Given the description of an element on the screen output the (x, y) to click on. 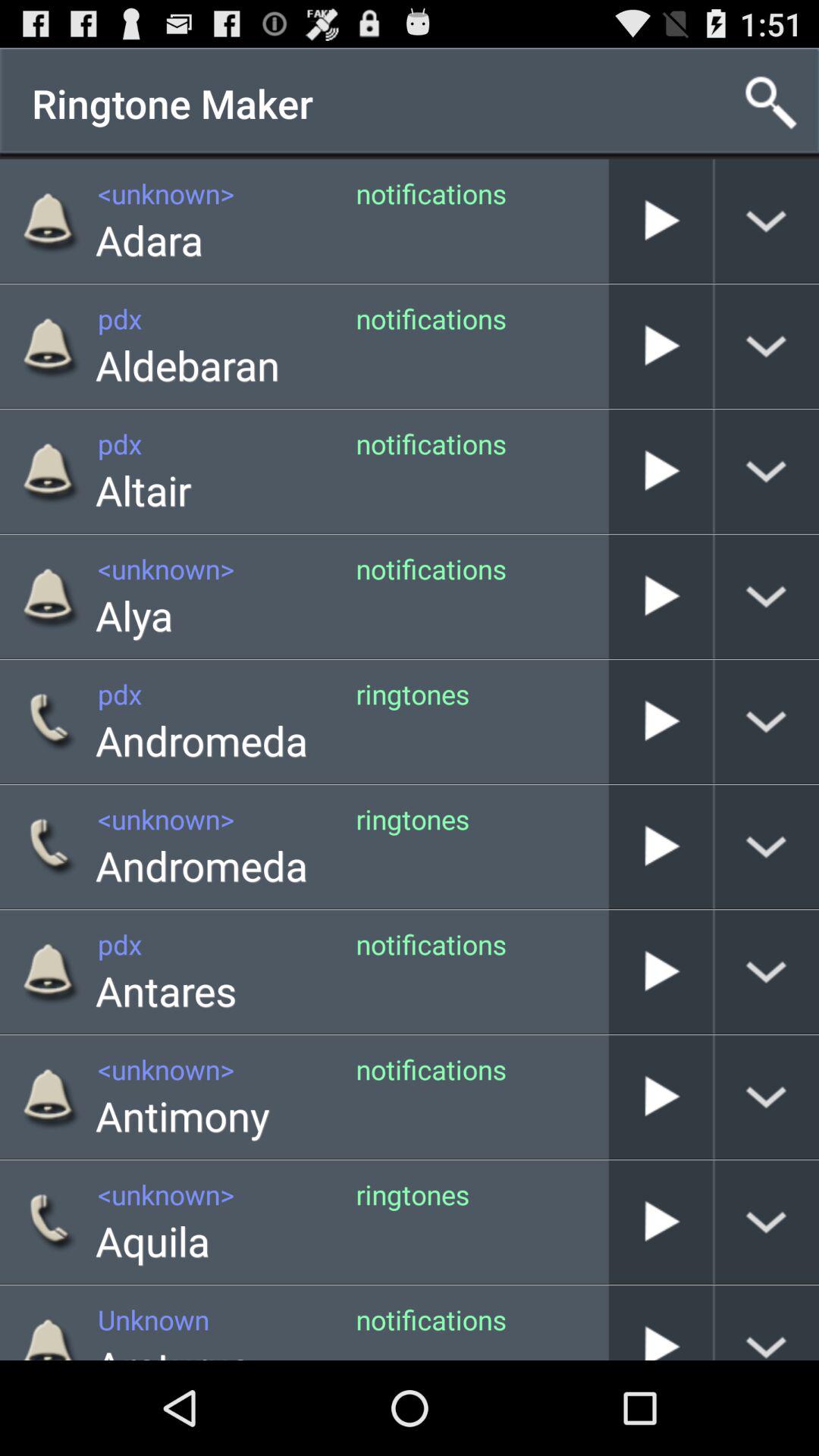
choose the altair icon (143, 489)
